Given the description of an element on the screen output the (x, y) to click on. 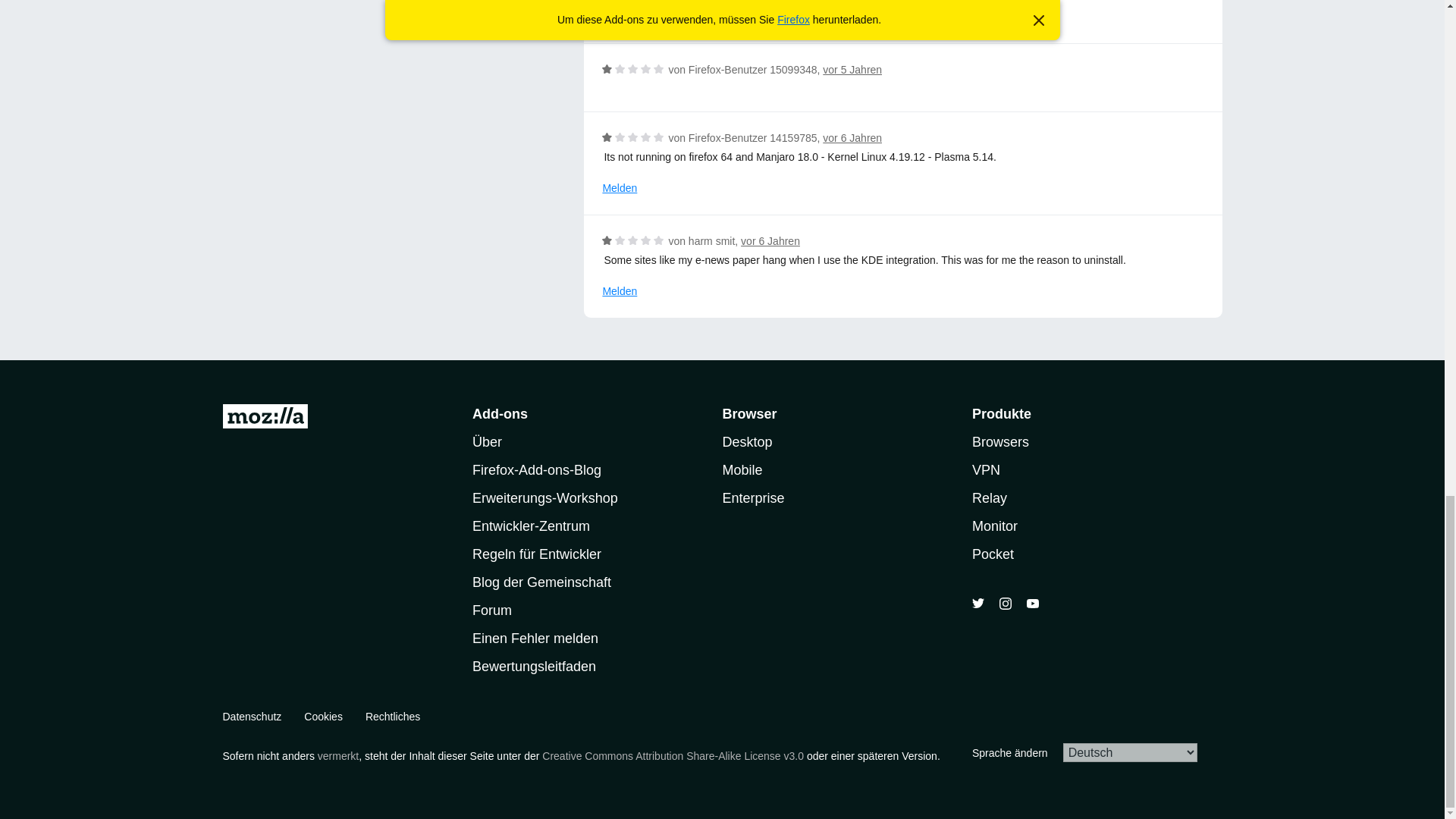
vor 5 Jahren (852, 69)
Melden (619, 17)
vor 6 Jahren (852, 137)
